Given the description of an element on the screen output the (x, y) to click on. 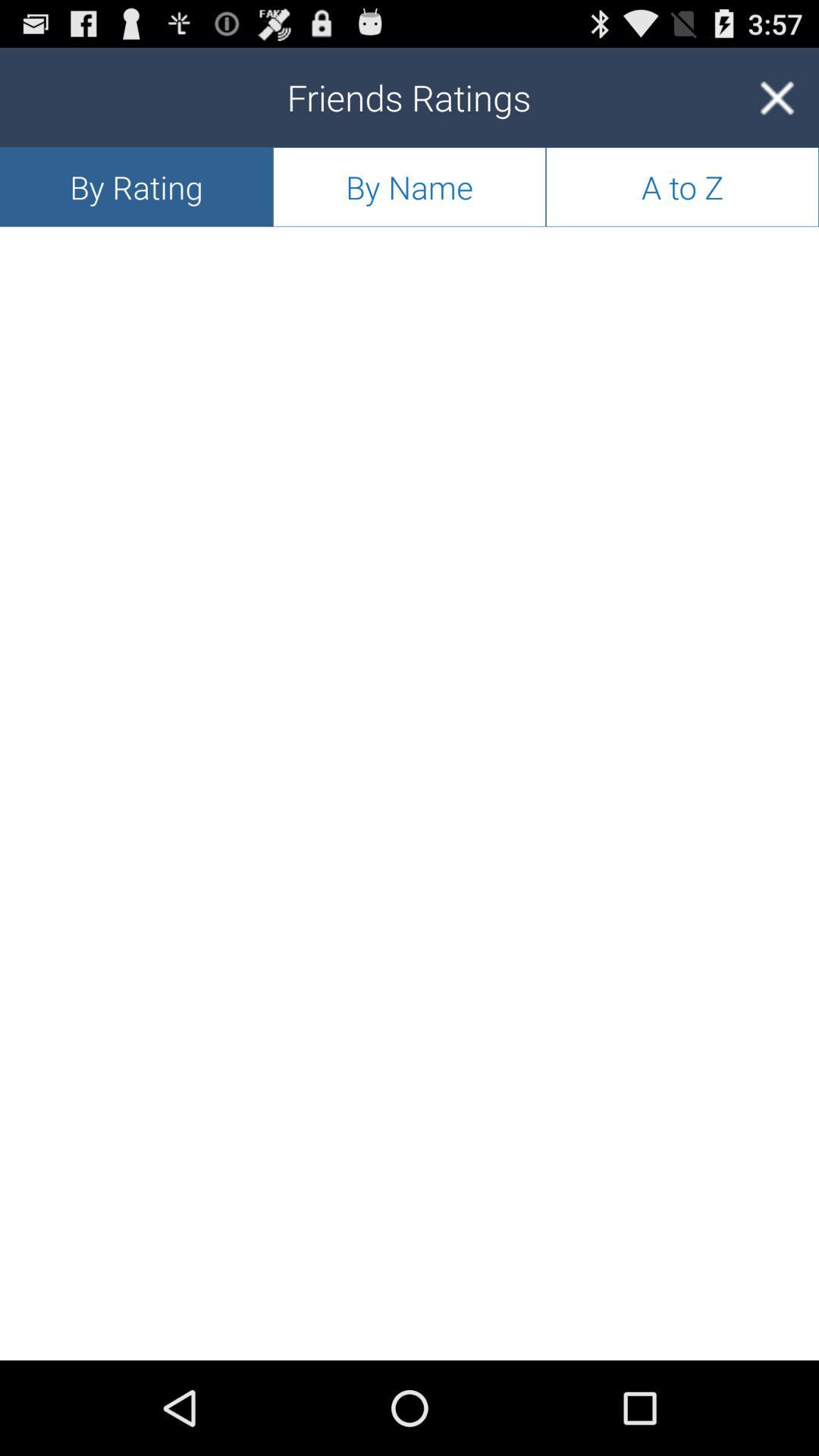
select the item next to by name icon (776, 97)
